Given the description of an element on the screen output the (x, y) to click on. 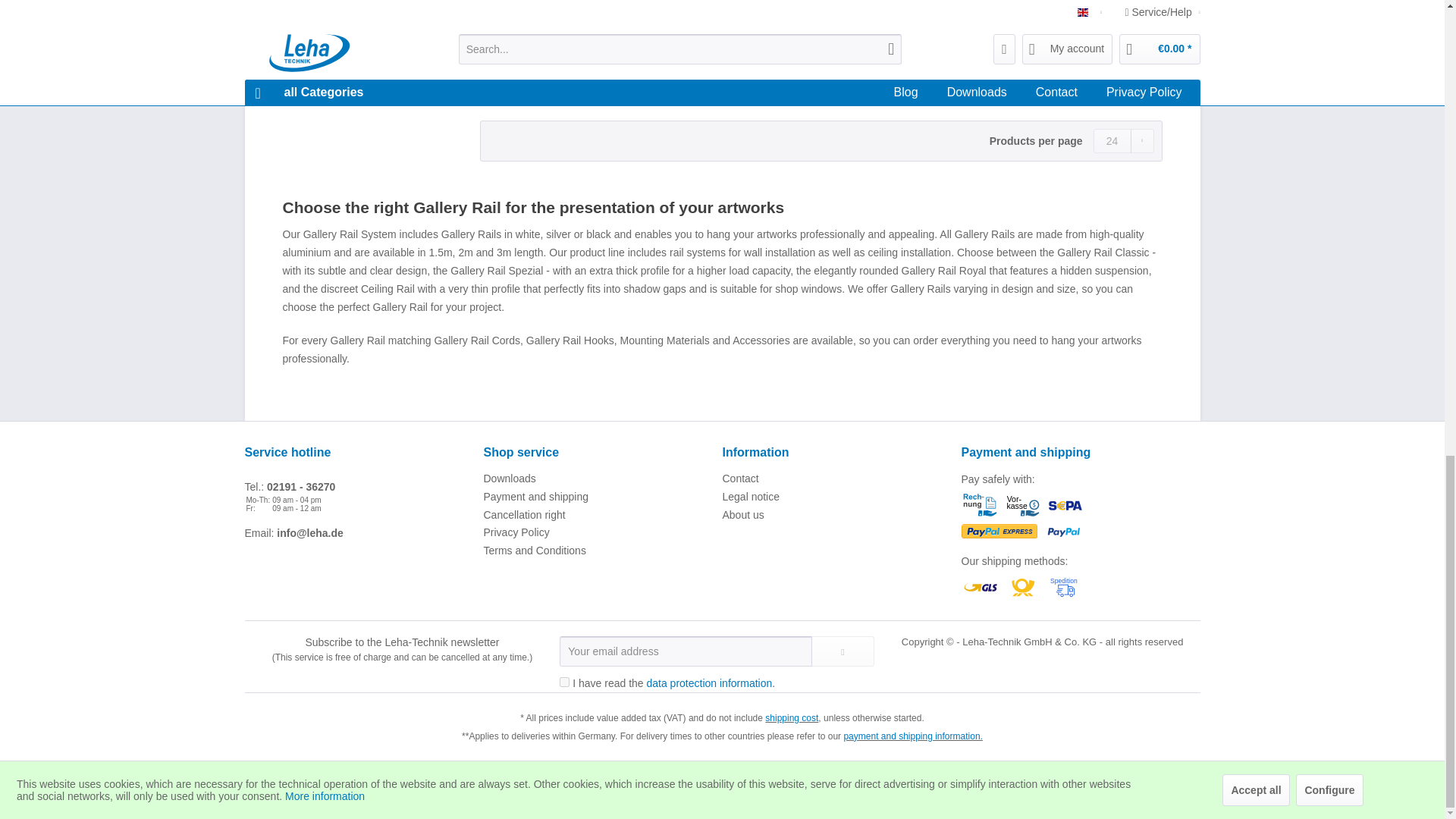
1 (564, 682)
